Given the description of an element on the screen output the (x, y) to click on. 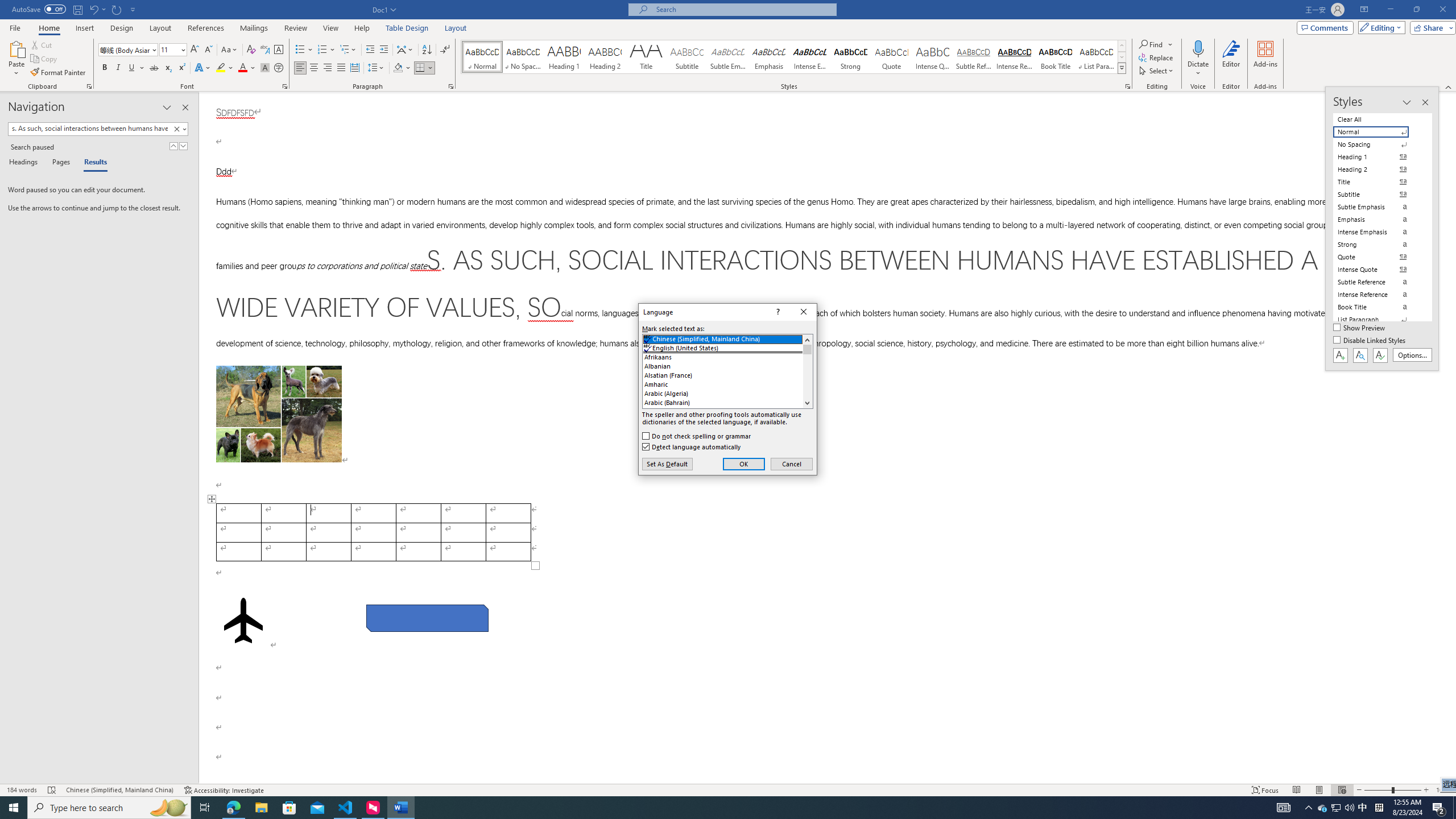
Previous Result (173, 145)
Book Title (1055, 56)
